Given the description of an element on the screen output the (x, y) to click on. 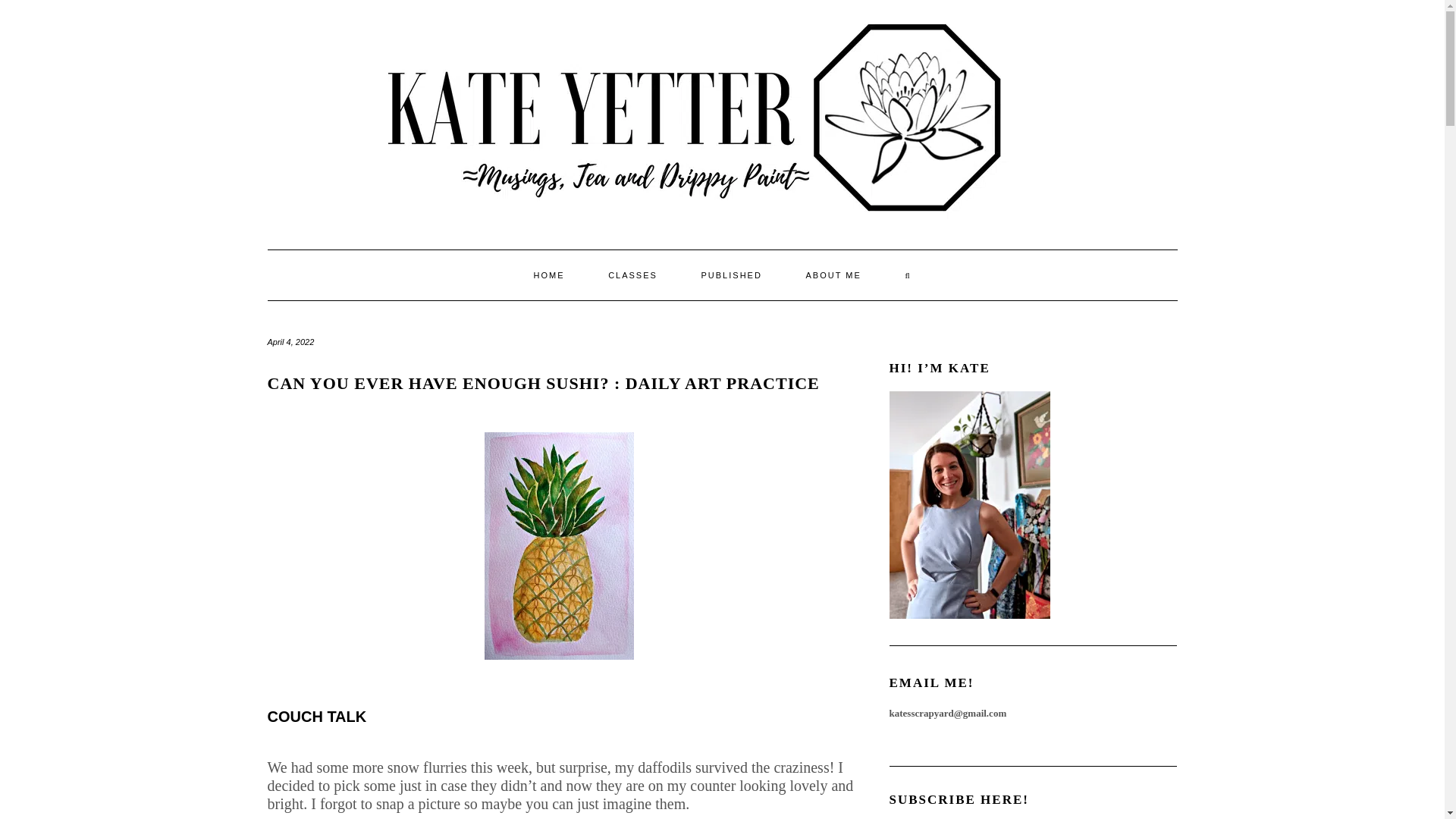
CLASSES (633, 275)
HOME (548, 275)
ABOUT ME (832, 275)
PUBLISHED (732, 275)
